Given the description of an element on the screen output the (x, y) to click on. 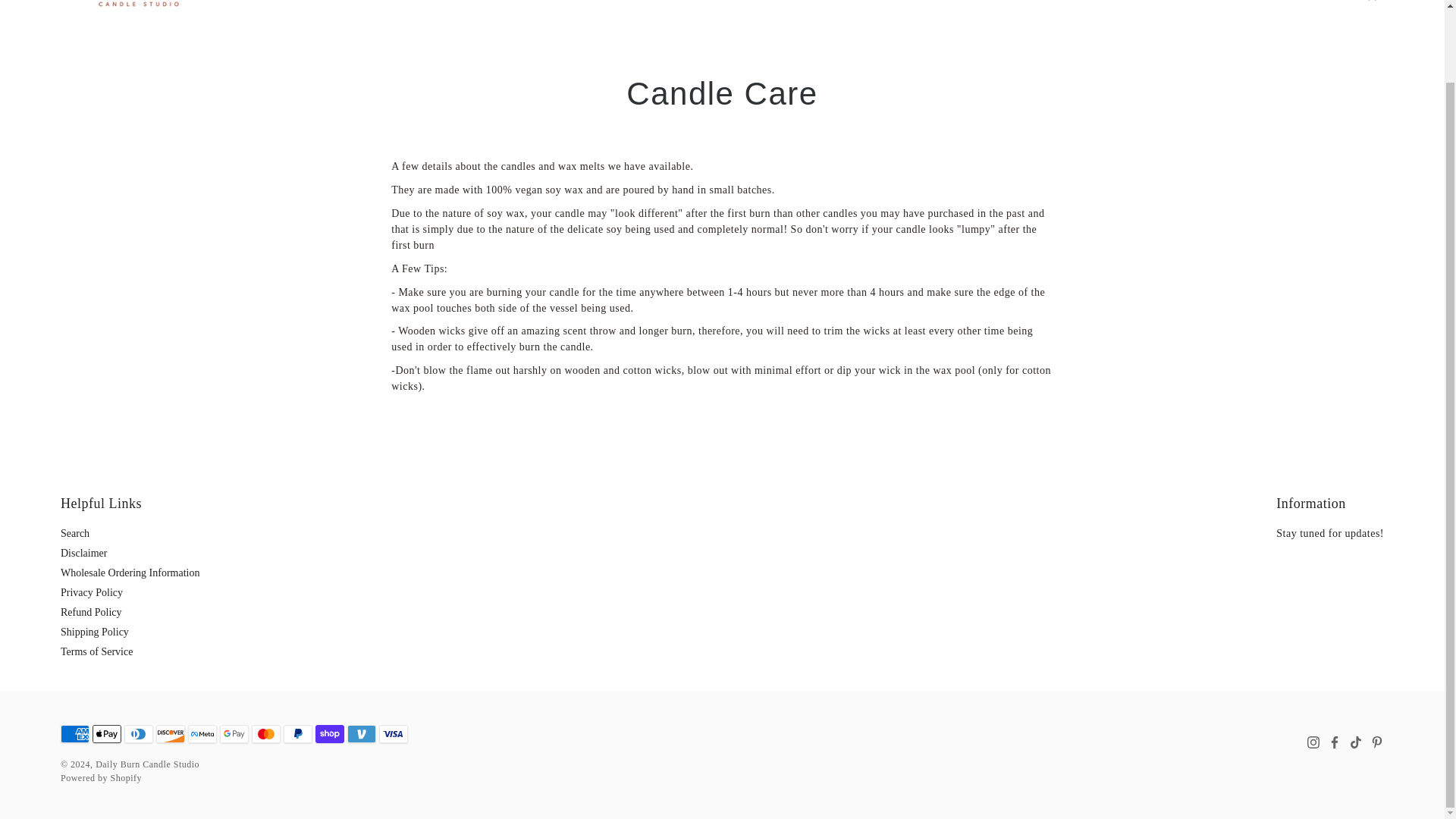
Visa (392, 733)
CONTACT US (849, 0)
Google Pay (233, 733)
Venmo (361, 733)
American Express (74, 733)
Meta Pay (201, 733)
ABOUT (577, 0)
Diners Club (137, 733)
SHOP (654, 0)
PayPal (298, 733)
WHOLESALE (749, 0)
Mastercard (266, 733)
Discover (169, 733)
Shop Pay (329, 733)
Apple Pay (106, 733)
